Given the description of an element on the screen output the (x, y) to click on. 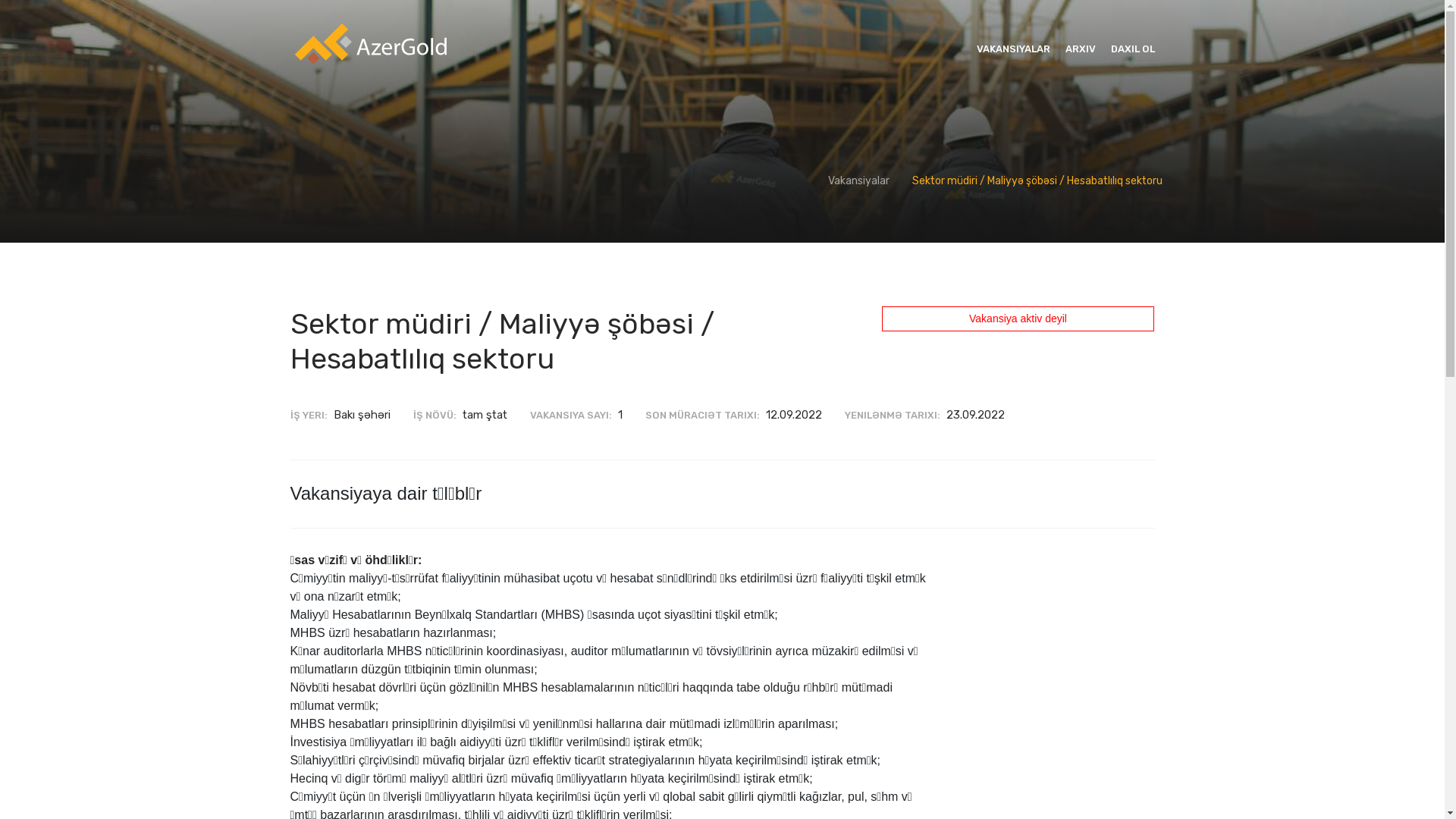
Vakansiyalar Element type: text (858, 180)
DAXIL OL Element type: text (1132, 49)
VAKANSIYALAR Element type: text (1013, 49)
ARXIV Element type: text (1079, 49)
